Given the description of an element on the screen output the (x, y) to click on. 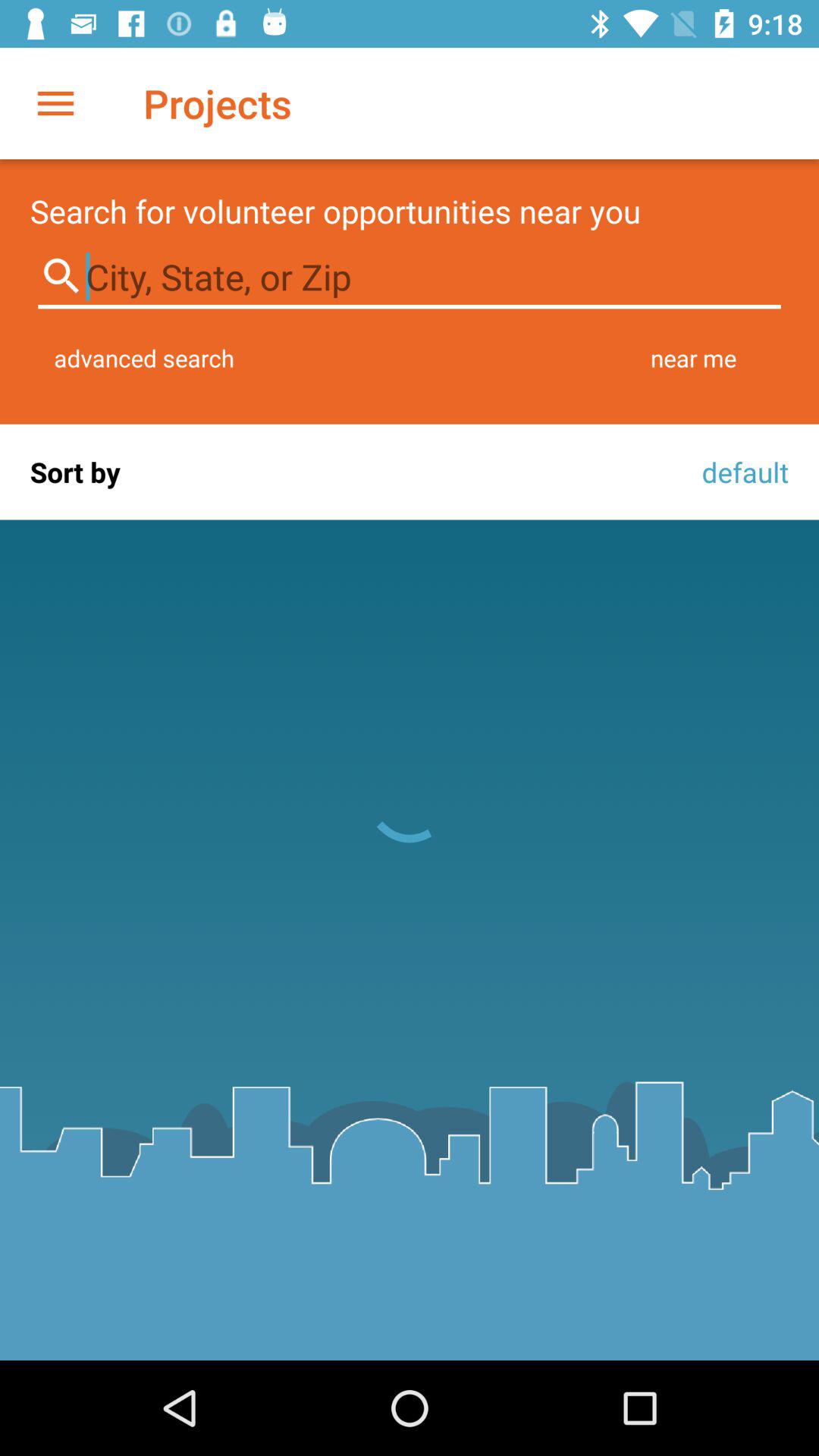
turn off icon to the right of advanced search item (692, 358)
